Given the description of an element on the screen output the (x, y) to click on. 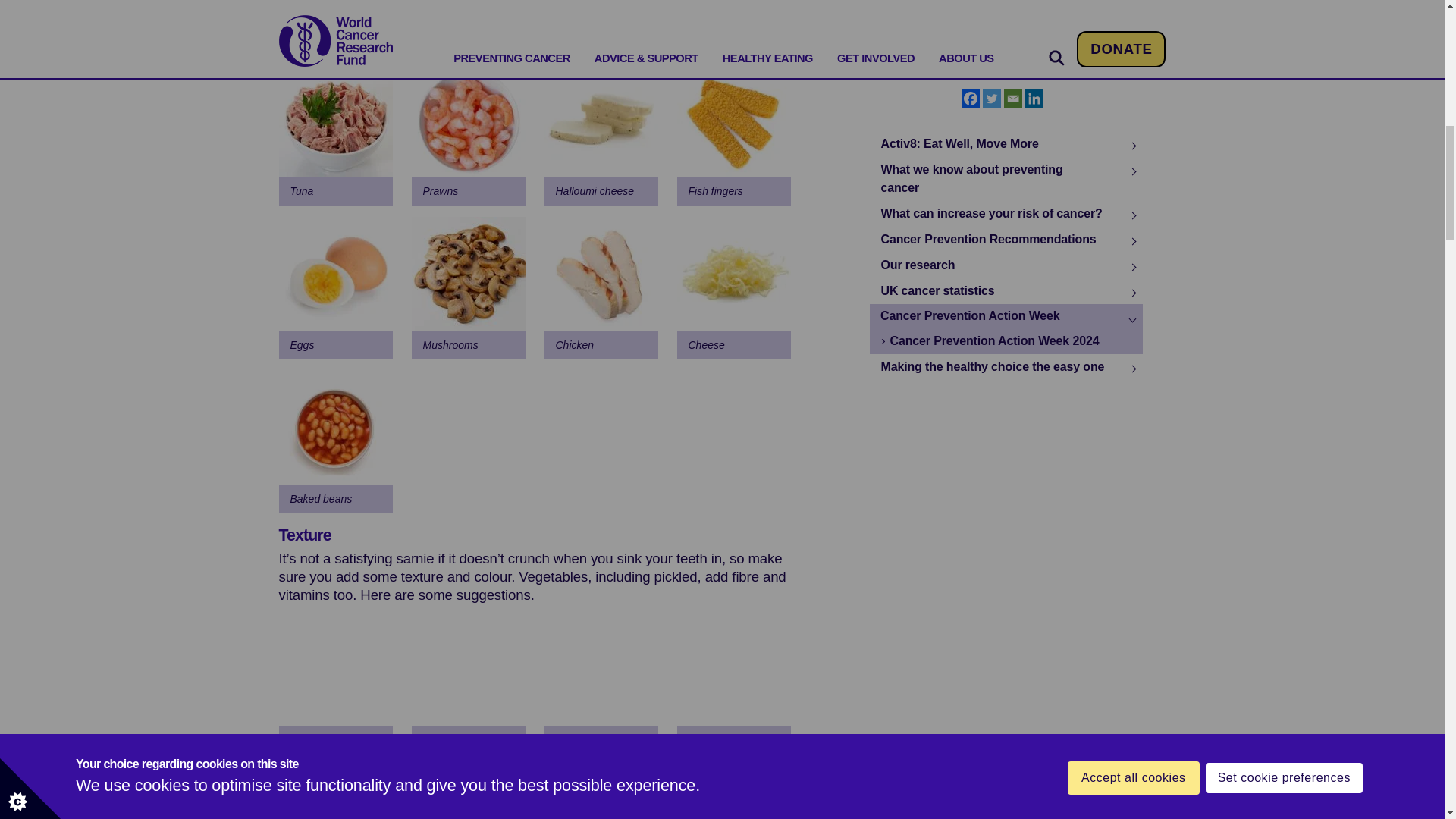
Accept all cookies (1133, 9)
Set cookie preferences (1283, 5)
